Given the description of an element on the screen output the (x, y) to click on. 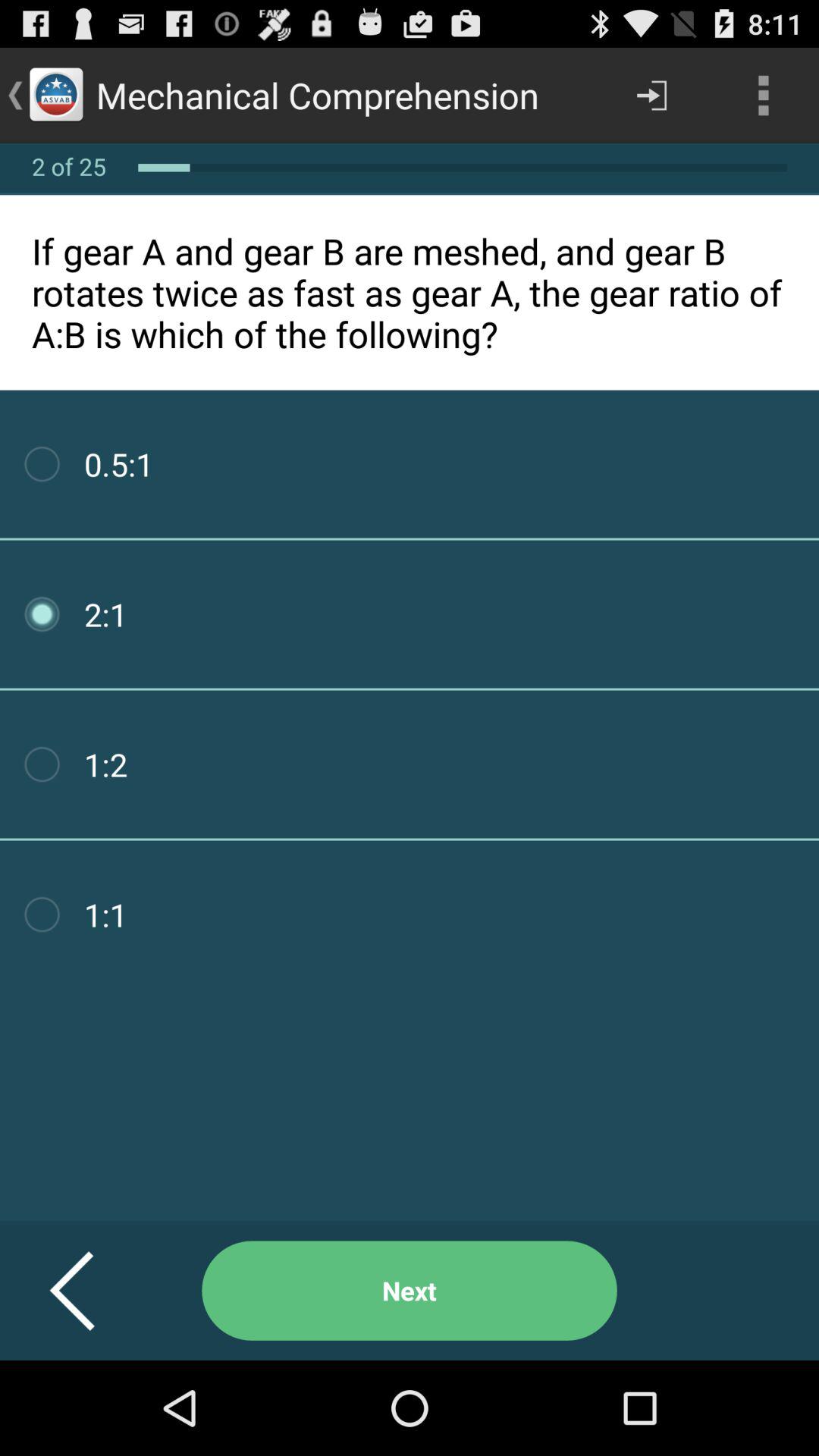
tap icon to the right of the mechanical comprehension icon (651, 95)
